Given the description of an element on the screen output the (x, y) to click on. 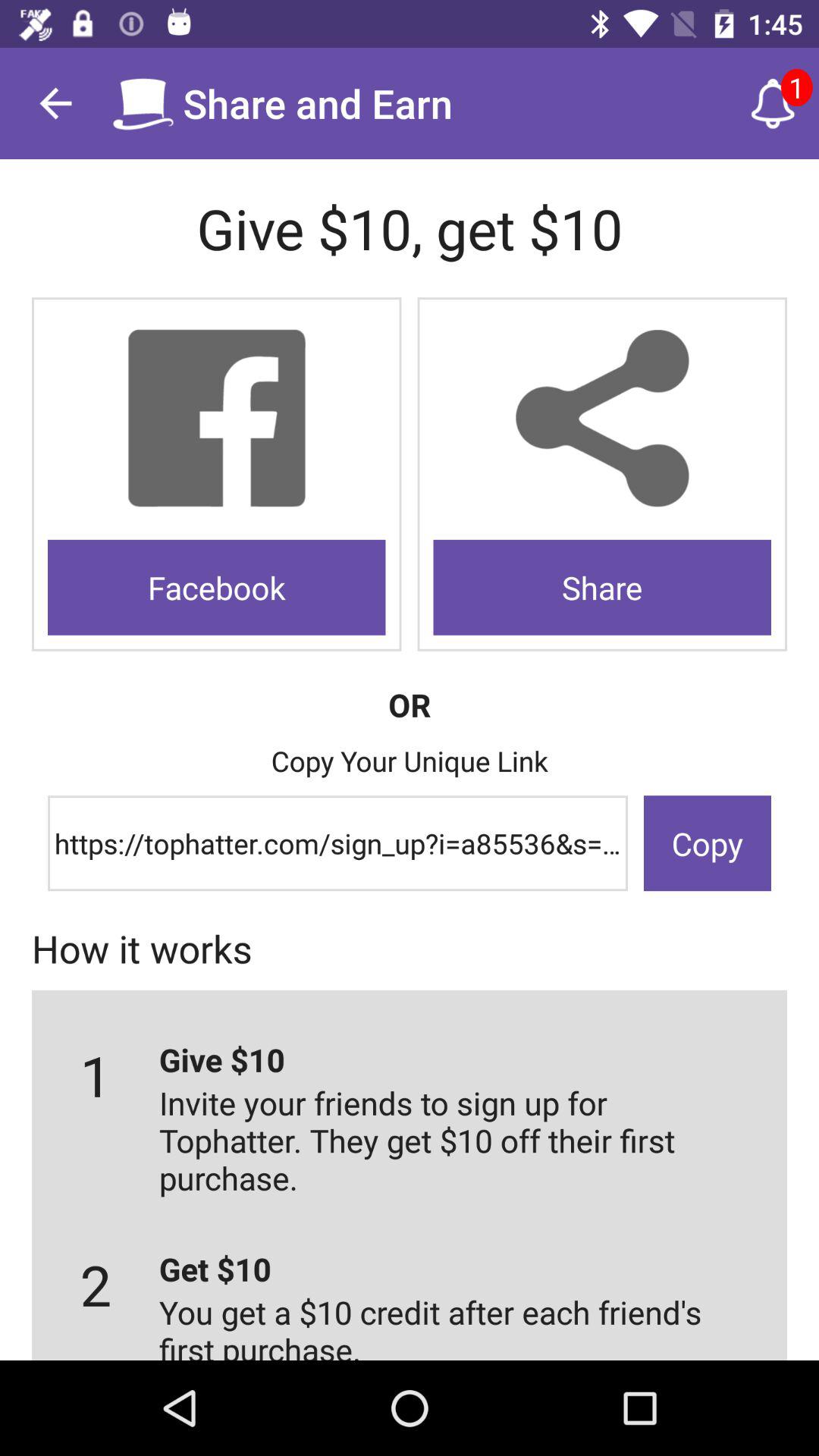
notification (772, 103)
